Given the description of an element on the screen output the (x, y) to click on. 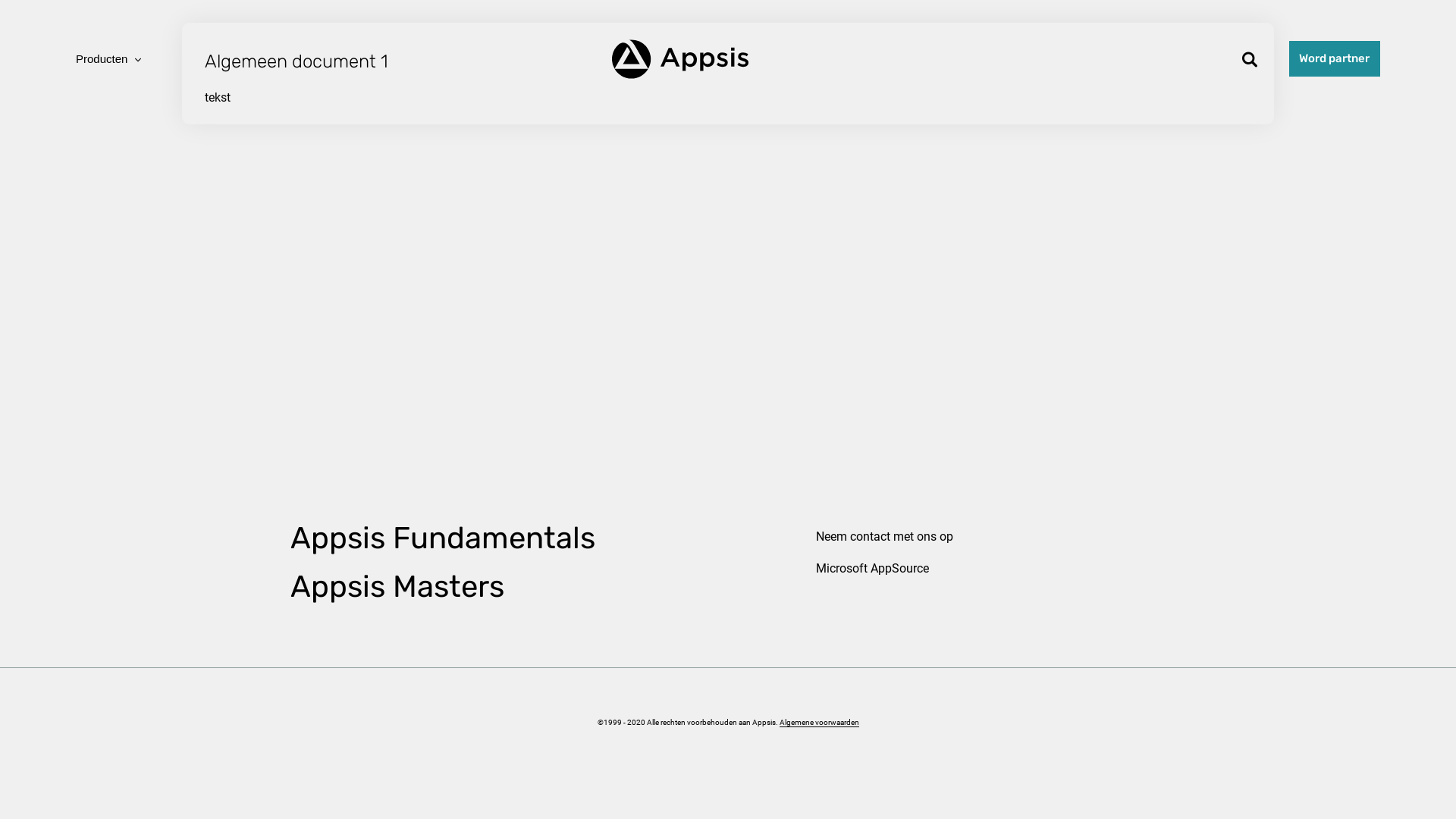
Appsis Fundamentals Element type: text (441, 537)
Microsoft AppSource Element type: text (871, 568)
Appsis Masters Element type: text (396, 586)
Producten Element type: text (108, 58)
Algemene voorwaarden Element type: text (819, 722)
Word partner Element type: text (1334, 57)
Neem contact met ons op Element type: text (884, 536)
Algemeen document 1 Element type: text (296, 61)
